Given the description of an element on the screen output the (x, y) to click on. 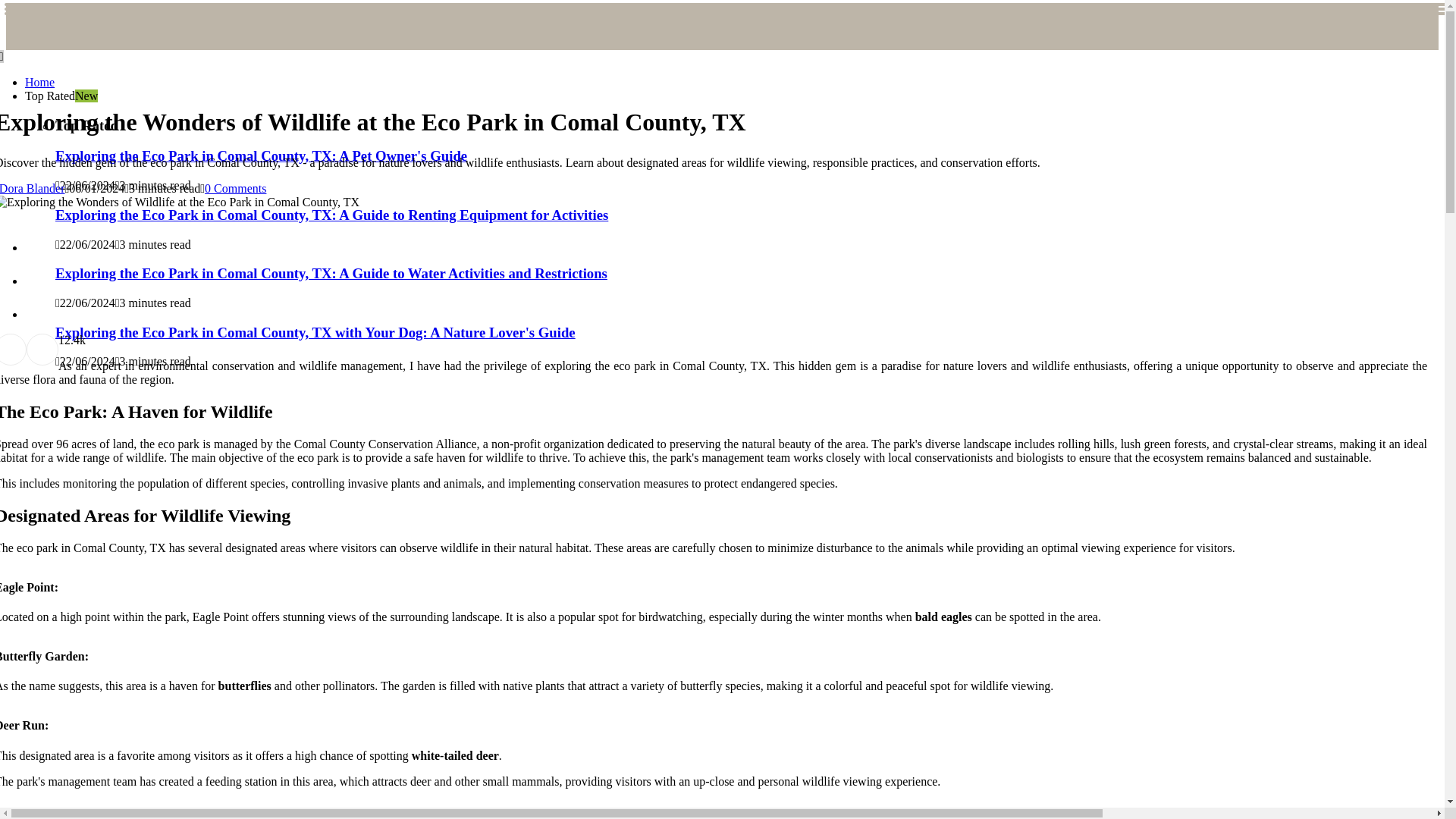
Top RatedNew (60, 95)
Dora Blander (32, 187)
Home (39, 82)
Posts by Dora Blander (32, 187)
0 Comments (235, 187)
